Given the description of an element on the screen output the (x, y) to click on. 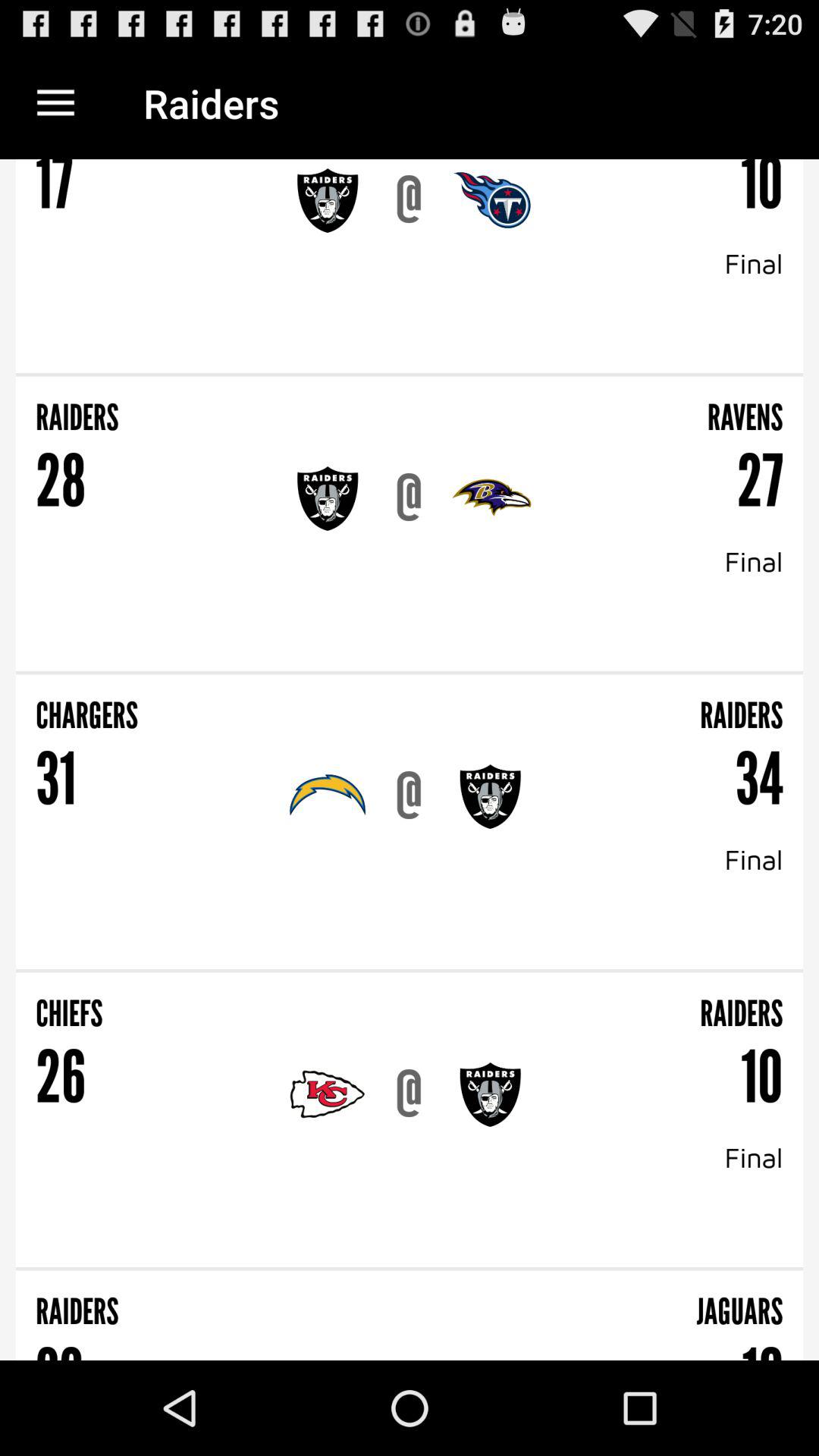
select item below the raiders (408, 1357)
